Given the description of an element on the screen output the (x, y) to click on. 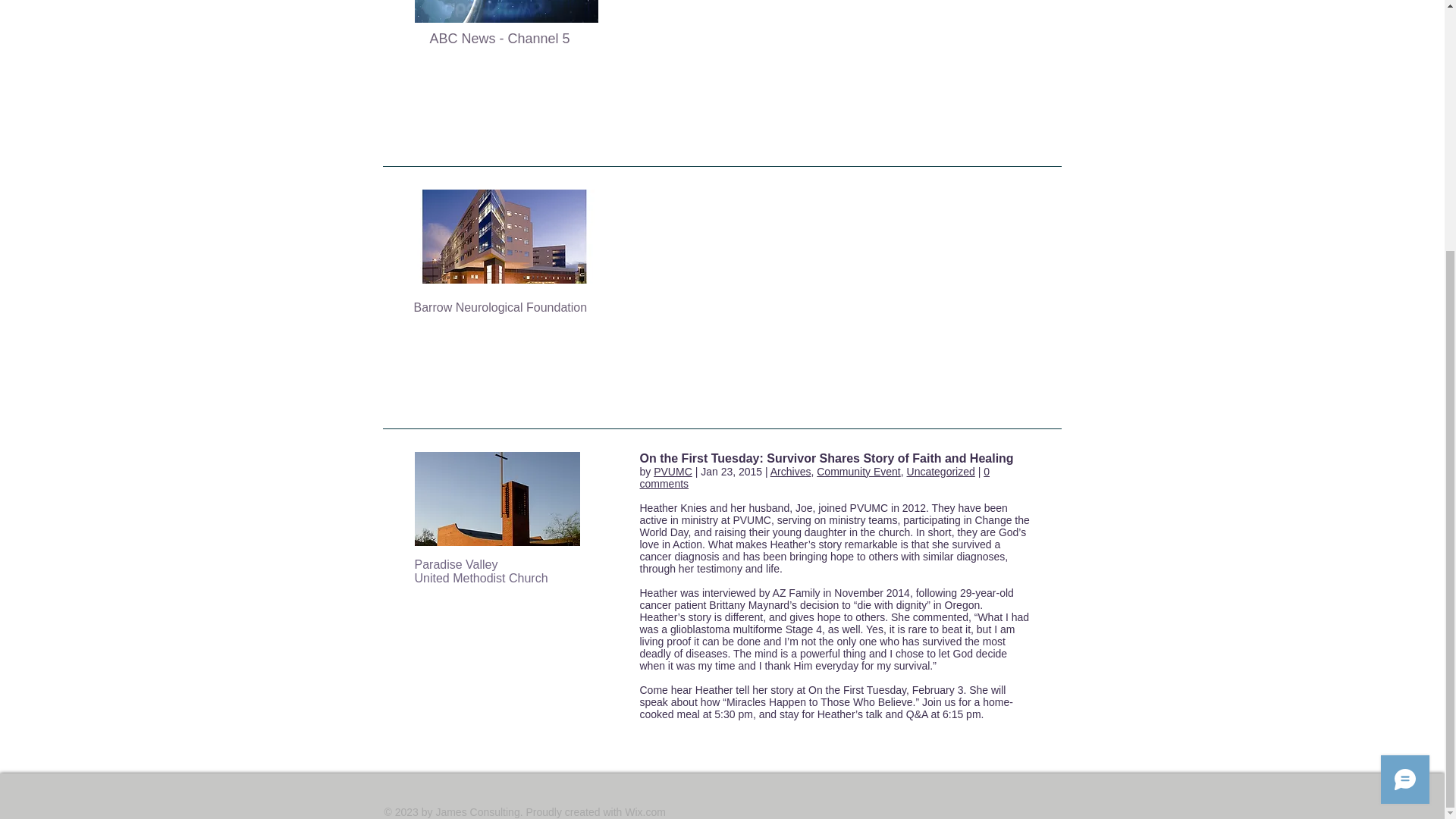
0 comments (815, 477)
Community Event (857, 471)
Uncategorized (941, 471)
PVUMC (673, 471)
Wix.com (644, 811)
